Given the description of an element on the screen output the (x, y) to click on. 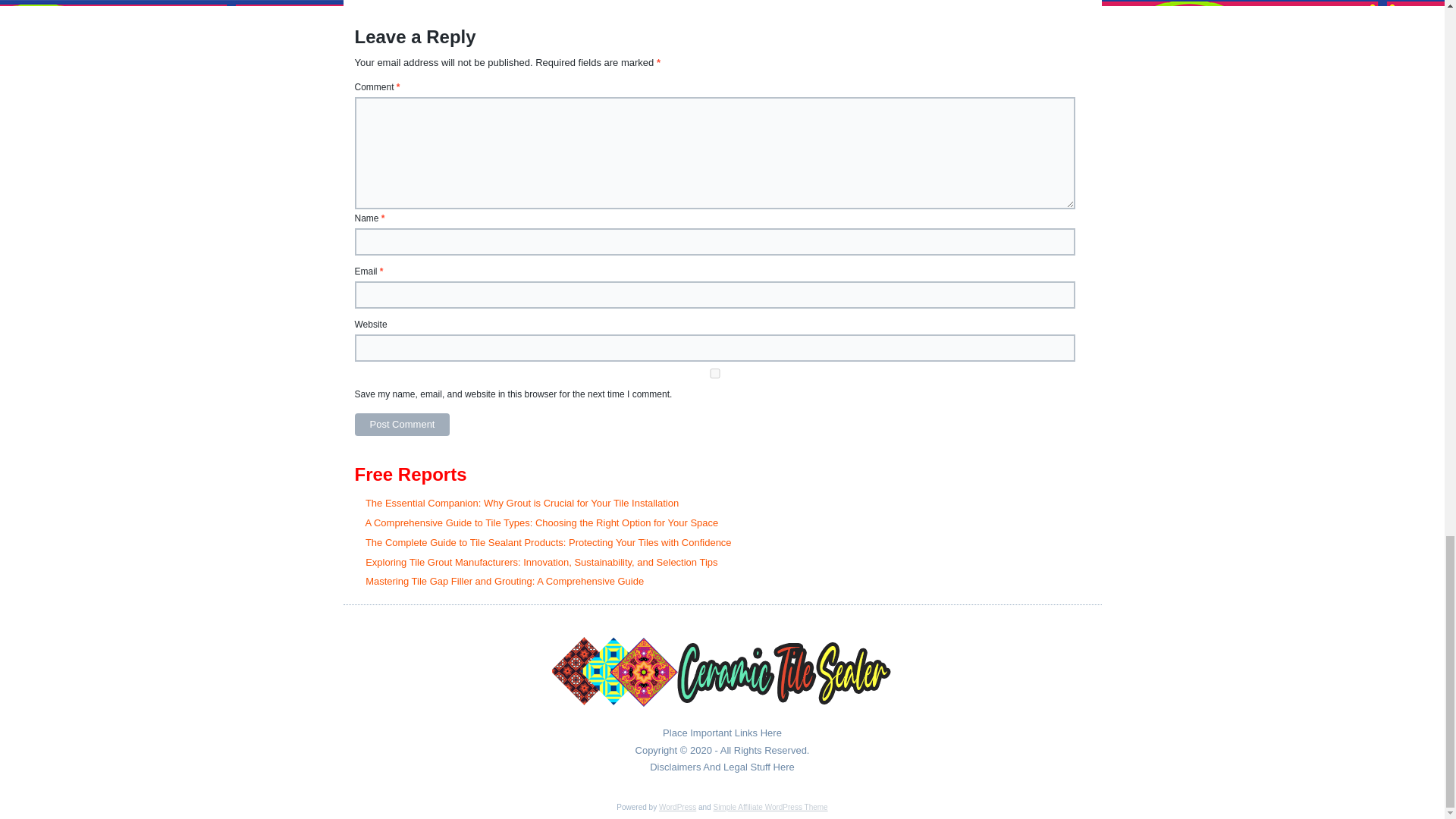
Post Comment (402, 424)
Simple Affiliate WordPress Theme (770, 807)
Post Comment (402, 424)
yes (715, 373)
WordPress (677, 807)
